Given the description of an element on the screen output the (x, y) to click on. 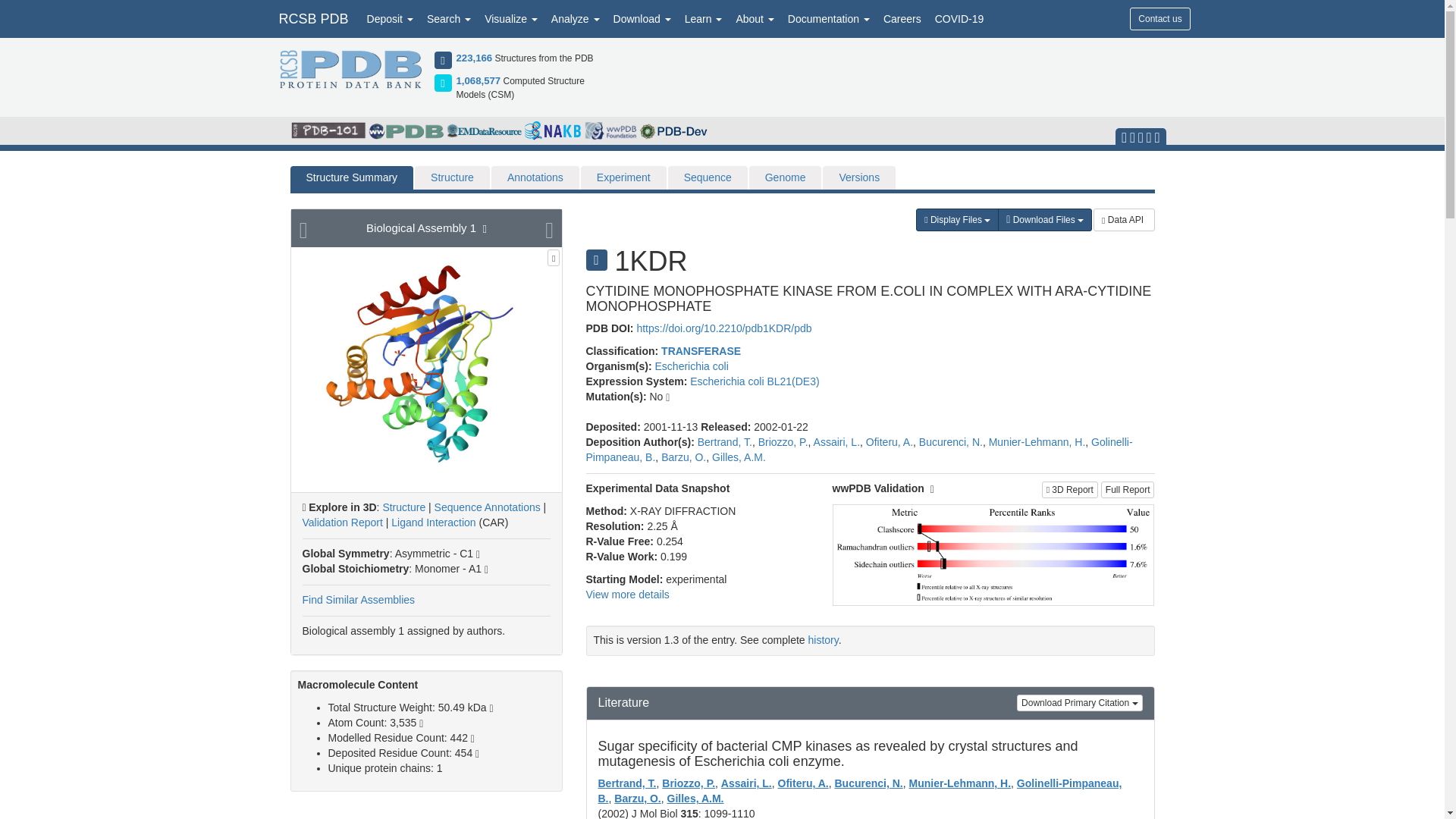
Analyze  (575, 18)
Deposit  (389, 18)
Visualize  (510, 18)
RCSB PDB (312, 18)
Search  (448, 18)
